Given the description of an element on the screen output the (x, y) to click on. 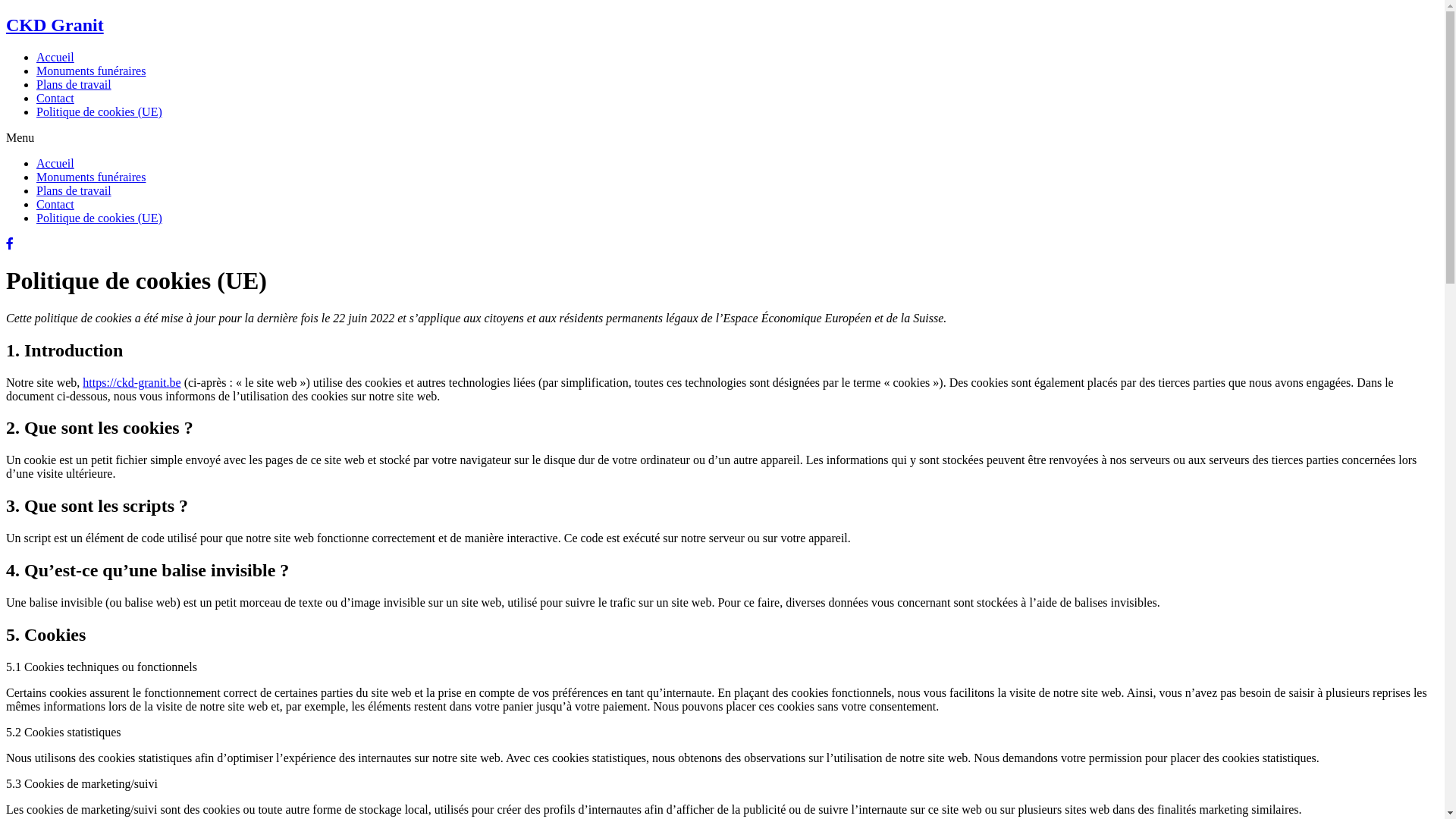
Contact Element type: text (55, 203)
Plans de travail Element type: text (73, 84)
CKD Granit Element type: text (54, 24)
https://ckd-granit.be Element type: text (131, 382)
Accueil Element type: text (55, 56)
Contact Element type: text (55, 97)
Plans de travail Element type: text (73, 190)
Accueil Element type: text (55, 162)
Politique de cookies (UE) Element type: text (99, 111)
Politique de cookies (UE) Element type: text (99, 217)
